Given the description of an element on the screen output the (x, y) to click on. 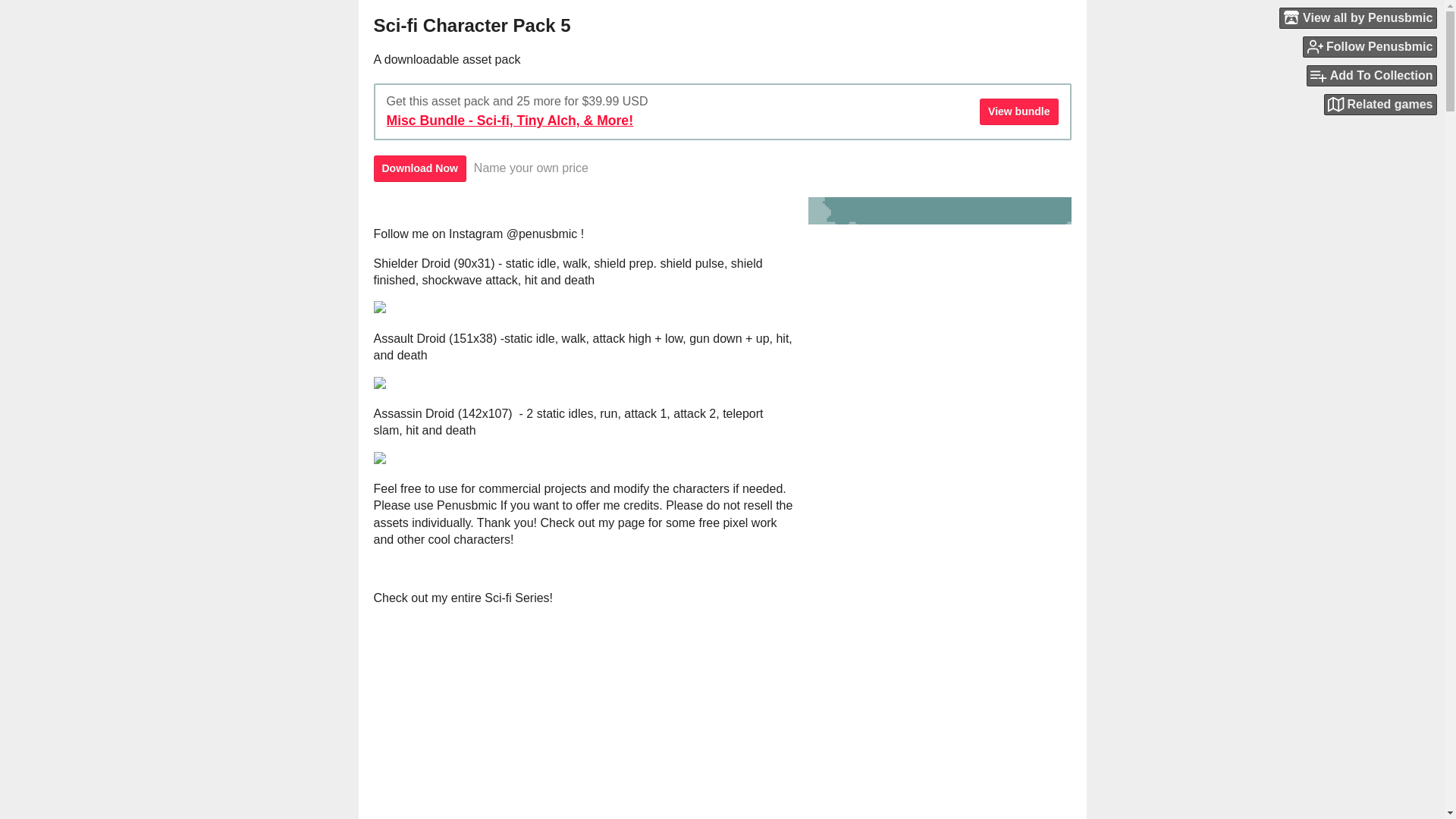
View all by Penusbmic (1358, 17)
Related games (1380, 104)
View bundle (1018, 111)
Follow Penusbmic (1370, 46)
Download Now (418, 168)
Add To Collection (1371, 75)
